Given the description of an element on the screen output the (x, y) to click on. 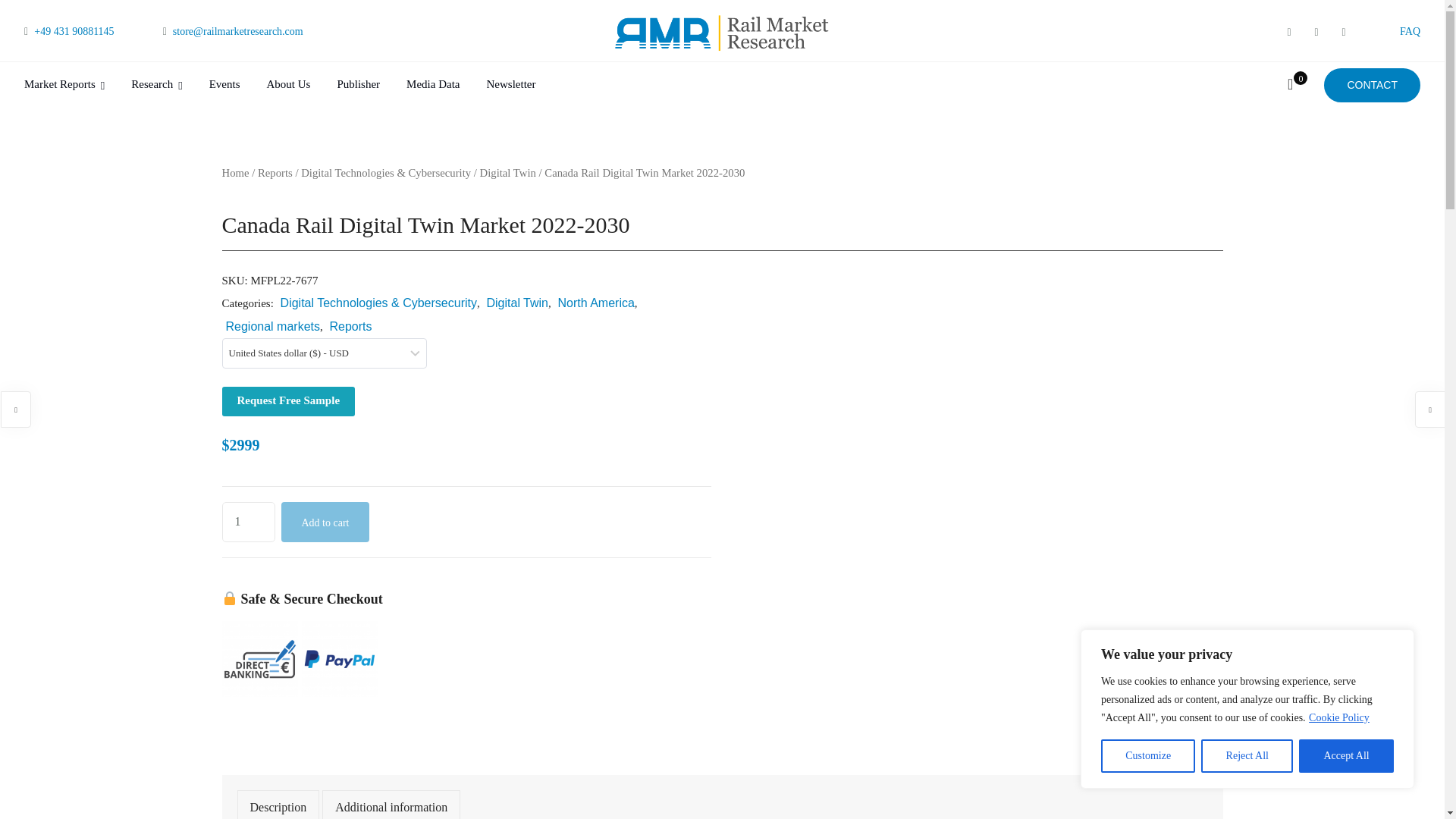
Market Reports (64, 84)
1 (248, 522)
Cookie Policy (1338, 717)
Accept All (1345, 756)
FAQ (1410, 30)
Reject All (1246, 756)
Customize (1147, 756)
